Given the description of an element on the screen output the (x, y) to click on. 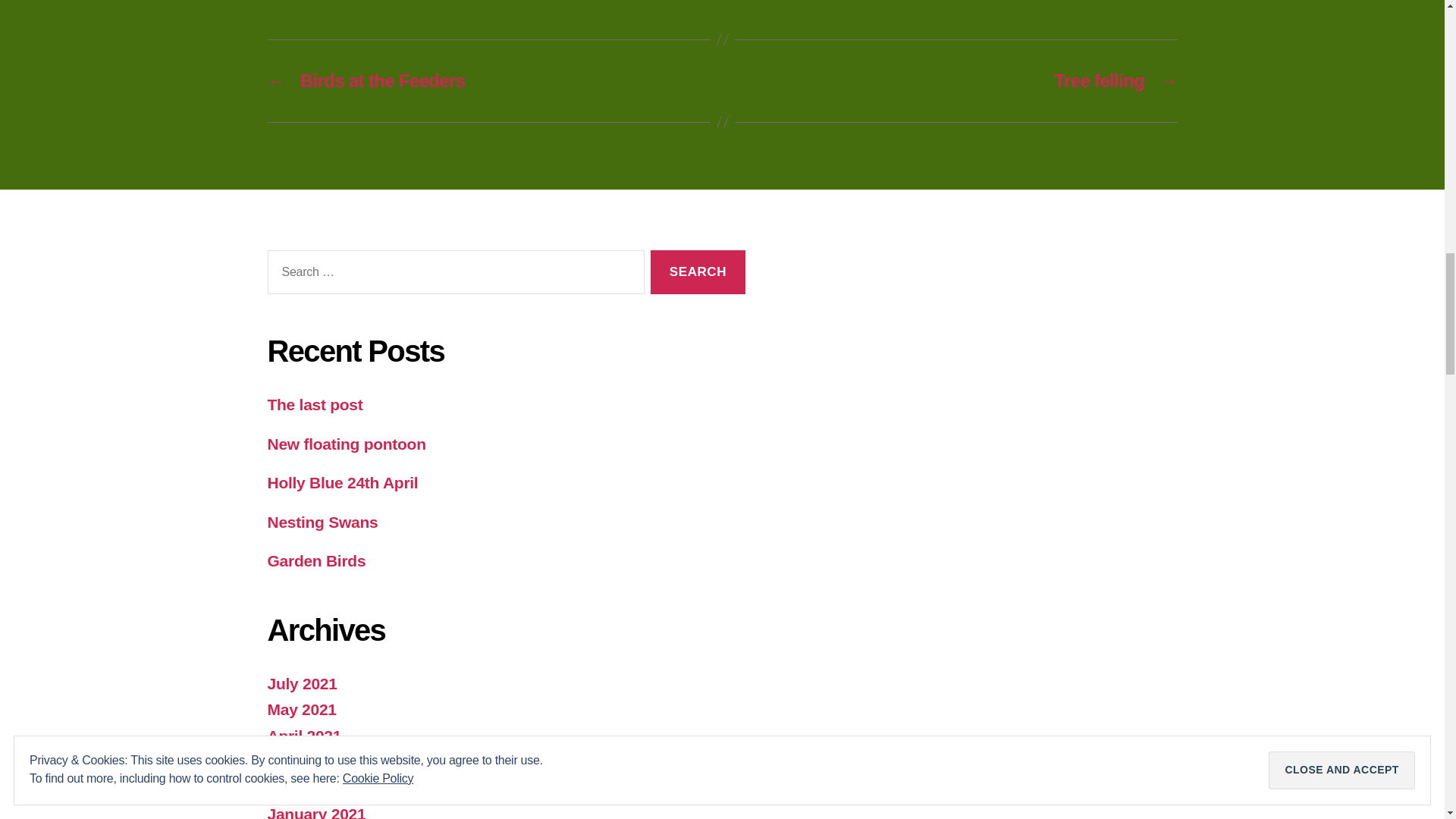
Holly Blue 24th April (341, 482)
Search (697, 272)
March 2021 (309, 761)
New floating pontoon (345, 443)
Search (697, 272)
July 2021 (301, 683)
February 2021 (319, 787)
The last post (314, 404)
Search (697, 272)
April 2021 (303, 735)
